Given the description of an element on the screen output the (x, y) to click on. 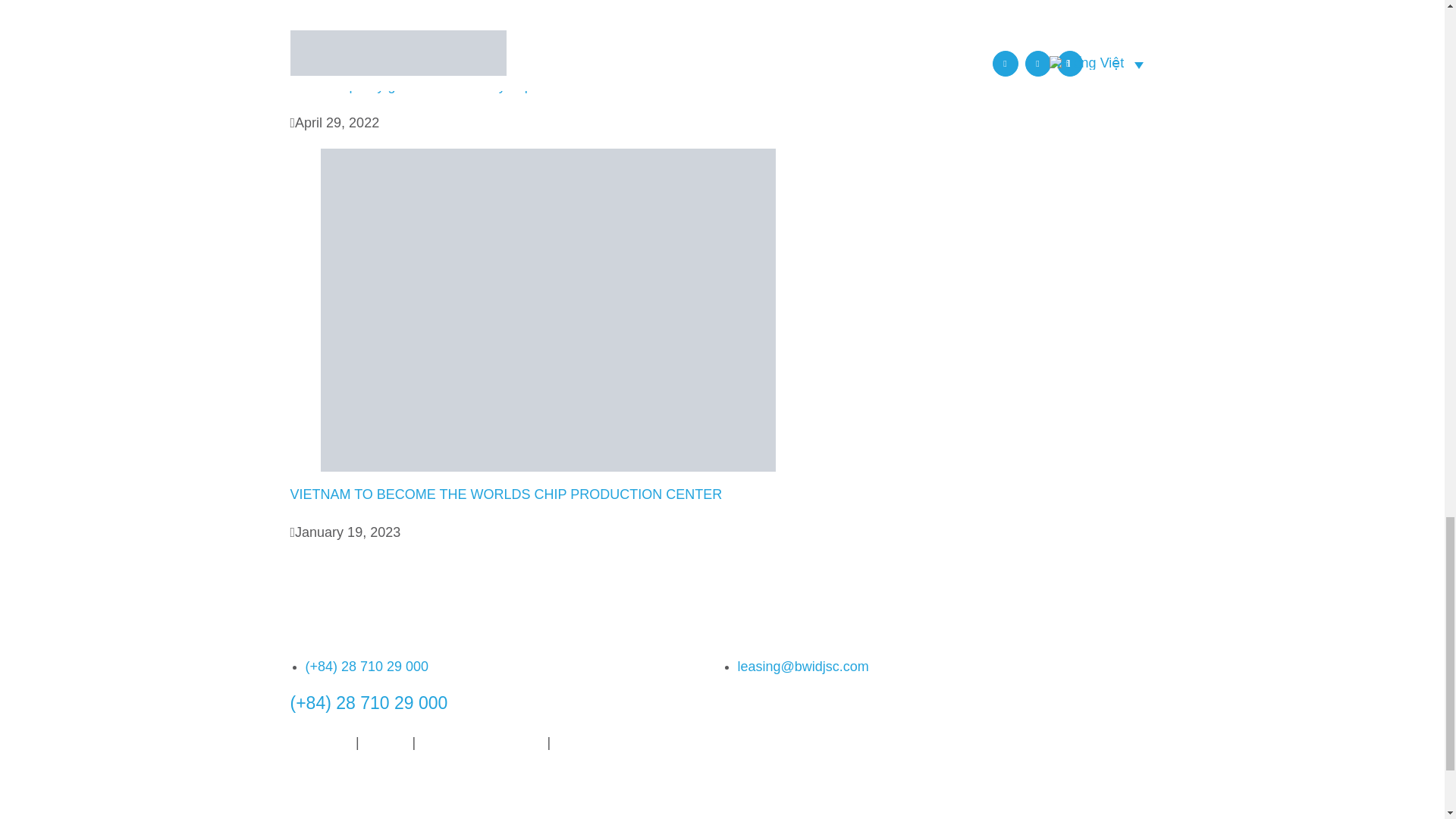
New visa policy gives hand to delayed plans (422, 85)
VIETNAM TO BECOME THE WORLDS CHIP PRODUCTION CENTER (505, 494)
VIETNAM TO BECOME THE WORLDS CHIP PRODUCTION CENTER (505, 494)
New visa policy gives hand to delayed plans (422, 85)
